Given the description of an element on the screen output the (x, y) to click on. 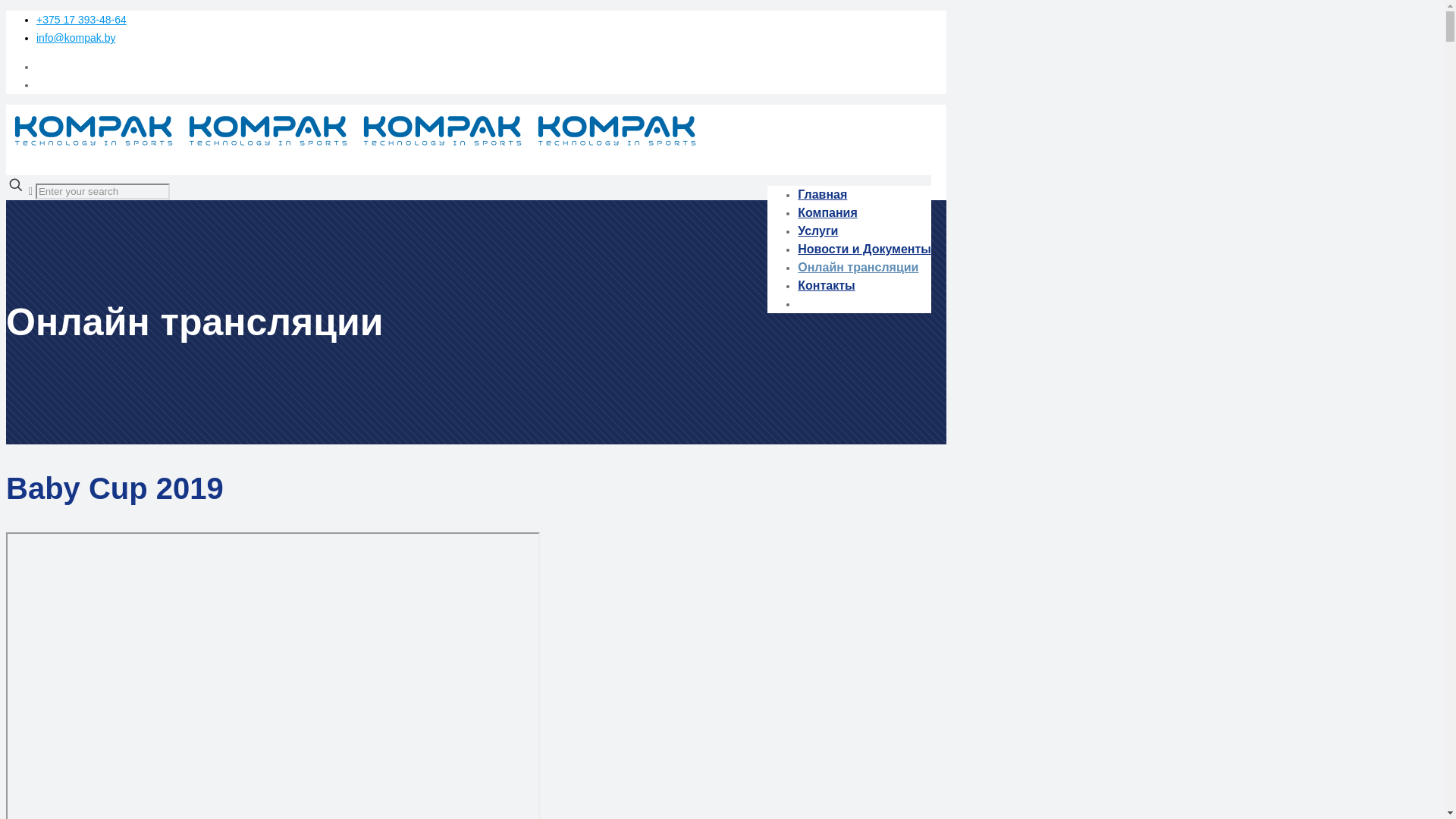
+375 17 393-48-64 Element type: text (81, 19)
info@kompak.by Element type: text (75, 37)
